Given the description of an element on the screen output the (x, y) to click on. 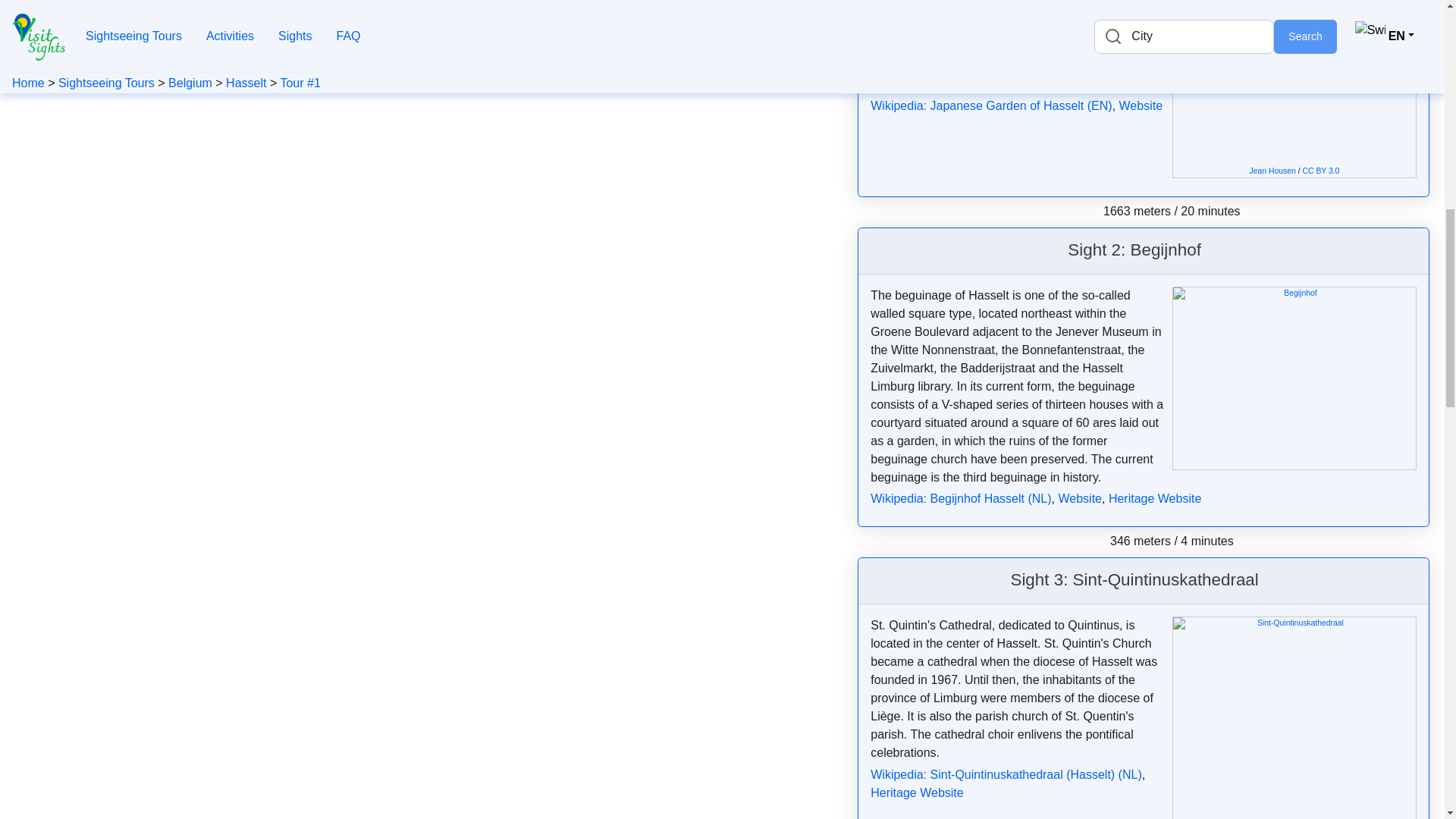
Website (1080, 498)
Show sight on map (1210, 252)
Website (1141, 105)
CC BY 3.0 (1321, 171)
Heritage Website (916, 792)
User:Jeanhousen (1272, 171)
Jean Housen (1272, 171)
Show sight on map (1267, 582)
Heritage Website (1154, 498)
